Given the description of an element on the screen output the (x, y) to click on. 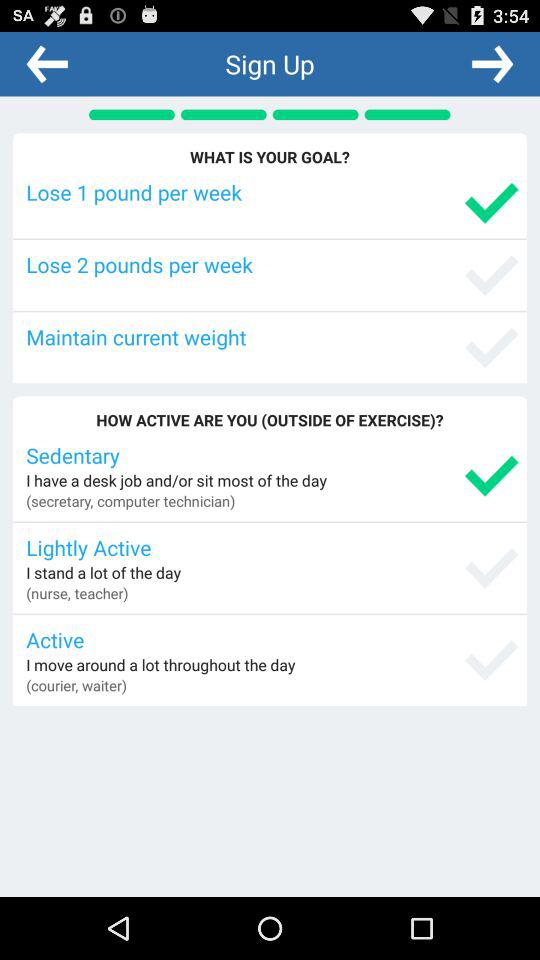
jump until lose 1 pound icon (272, 191)
